Given the description of an element on the screen output the (x, y) to click on. 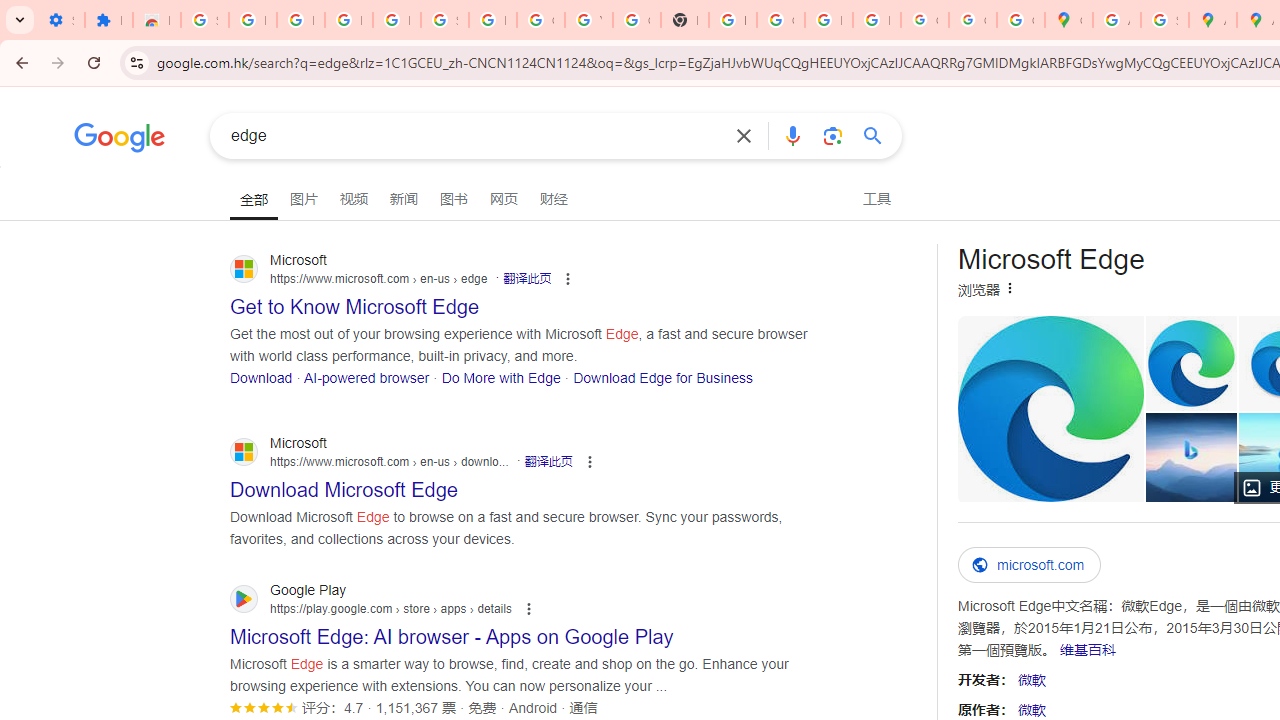
https://scholar.google.com/ (732, 20)
Extensions (108, 20)
upload.wikimedia.org/wikipedia/commons/9/98/Micros... (1050, 408)
